Given the description of an element on the screen output the (x, y) to click on. 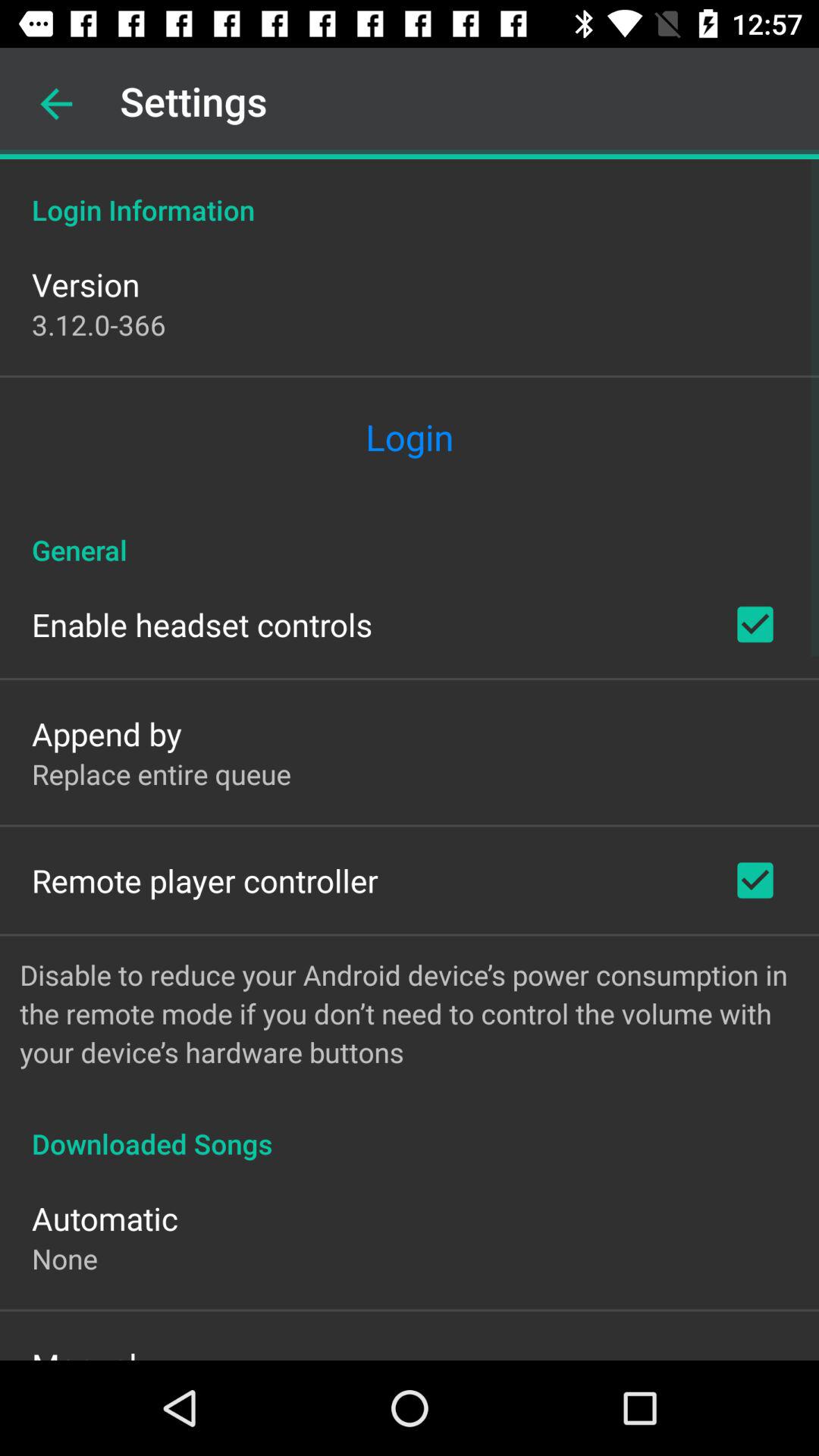
launch the login information icon (409, 193)
